Given the description of an element on the screen output the (x, y) to click on. 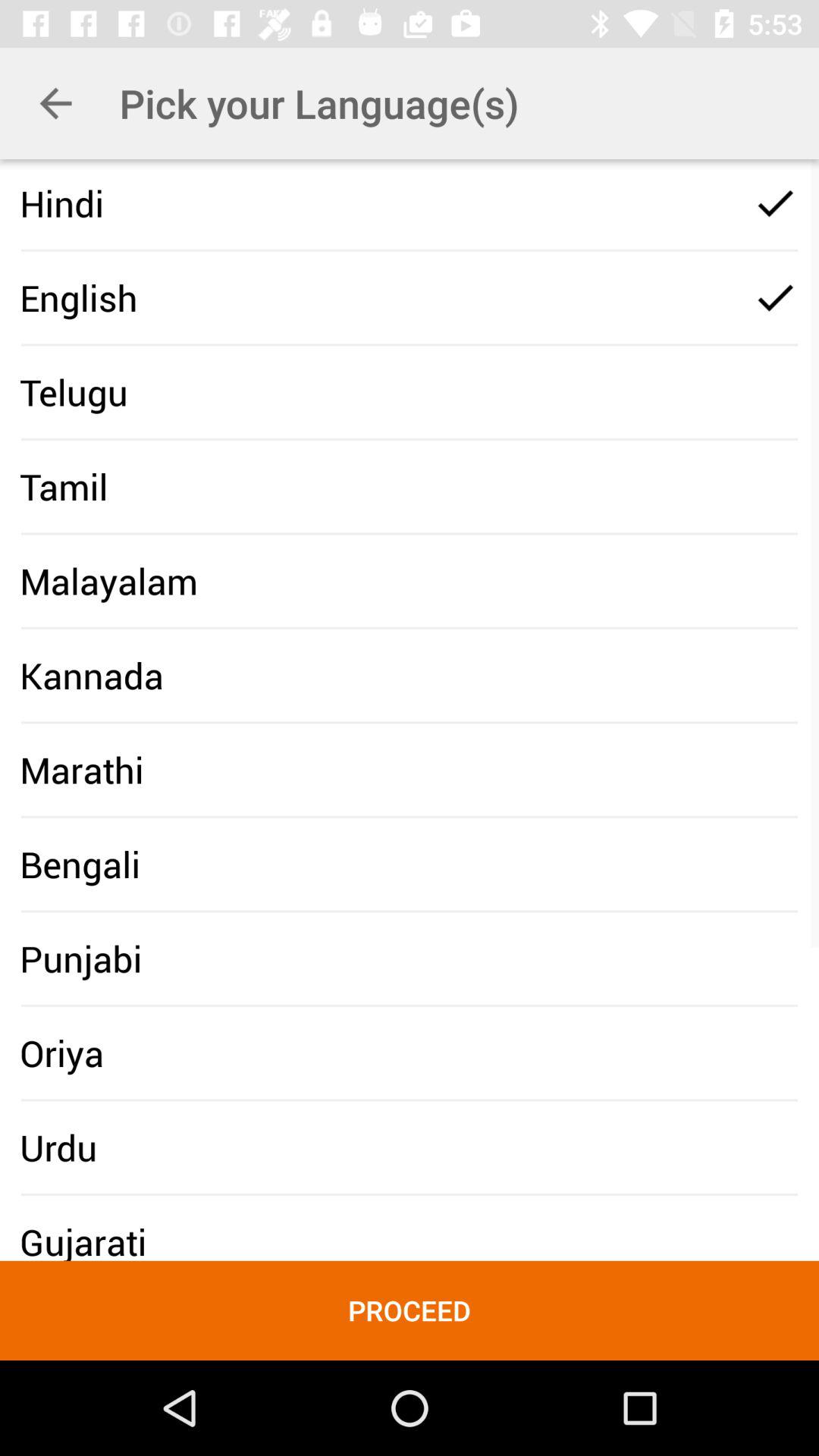
turn on telugu (73, 391)
